Given the description of an element on the screen output the (x, y) to click on. 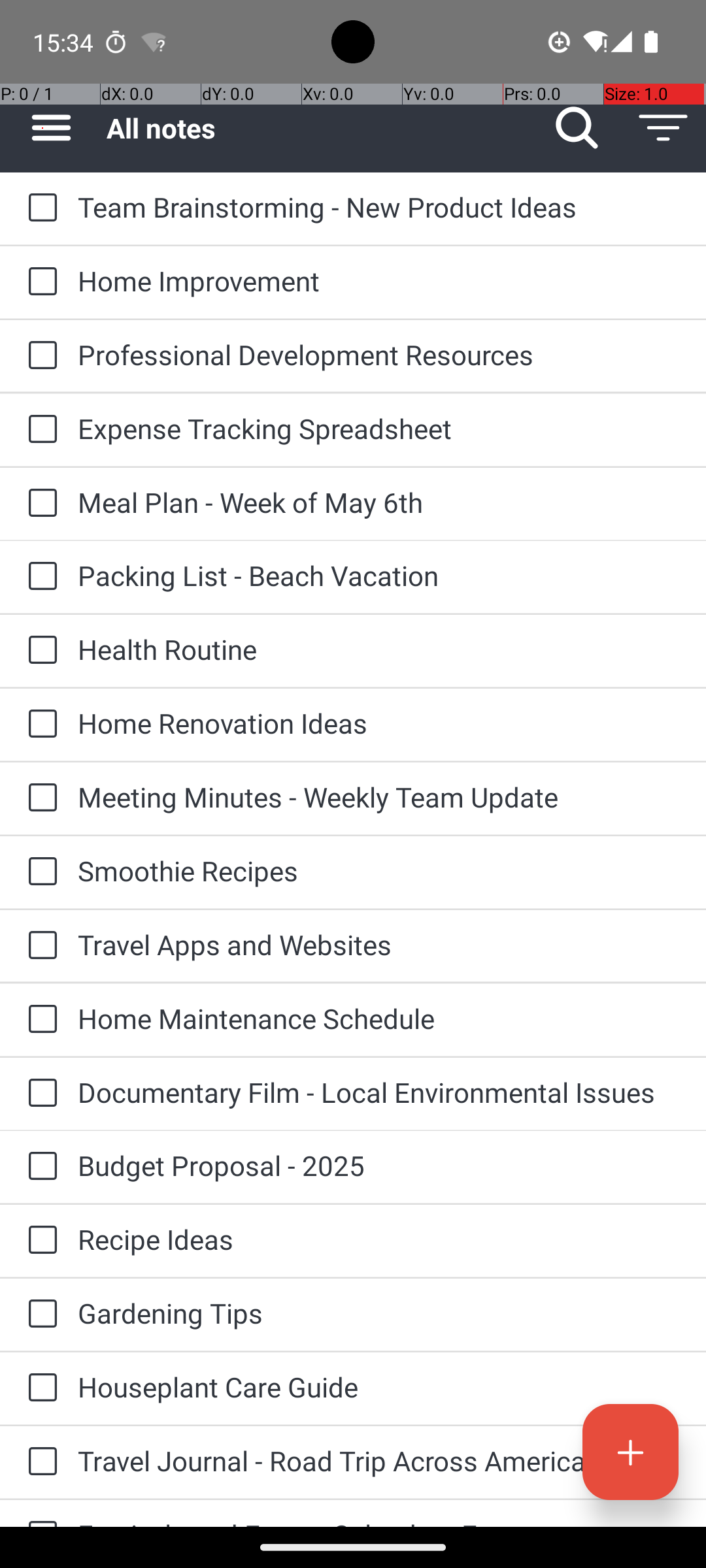
to-do: Team Brainstorming - New Product Ideas Element type: android.widget.CheckBox (38, 208)
Team Brainstorming - New Product Ideas Element type: android.widget.TextView (378, 206)
to-do: Home Improvement Element type: android.widget.CheckBox (38, 282)
Home Improvement Element type: android.widget.TextView (378, 280)
to-do: Professional Development Resources Element type: android.widget.CheckBox (38, 356)
Professional Development Resources Element type: android.widget.TextView (378, 354)
to-do: Meal Plan - Week of May 6th Element type: android.widget.CheckBox (38, 503)
to-do: Packing List - Beach Vacation Element type: android.widget.CheckBox (38, 576)
to-do: Home Renovation Ideas Element type: android.widget.CheckBox (38, 724)
to-do: Smoothie Recipes Element type: android.widget.CheckBox (38, 872)
Smoothie Recipes Element type: android.widget.TextView (378, 870)
to-do: Travel Apps and Websites Element type: android.widget.CheckBox (38, 945)
Travel Apps and Websites Element type: android.widget.TextView (378, 944)
to-do: Budget Proposal - 2025 Element type: android.widget.CheckBox (38, 1166)
Budget Proposal - 2025 Element type: android.widget.TextView (378, 1164)
to-do: Recipe Ideas Element type: android.widget.CheckBox (38, 1240)
Recipe Ideas Element type: android.widget.TextView (378, 1238)
to-do: Houseplant Care Guide Element type: android.widget.CheckBox (38, 1388)
Houseplant Care Guide Element type: android.widget.TextView (378, 1386)
to-do: Travel Journal - Road Trip Across America Element type: android.widget.CheckBox (38, 1462)
to-do: Festivals and Events Calendar - Europe Element type: android.widget.CheckBox (38, 1513)
Festivals and Events Calendar - Europe Element type: android.widget.TextView (378, 1520)
